Given the description of an element on the screen output the (x, y) to click on. 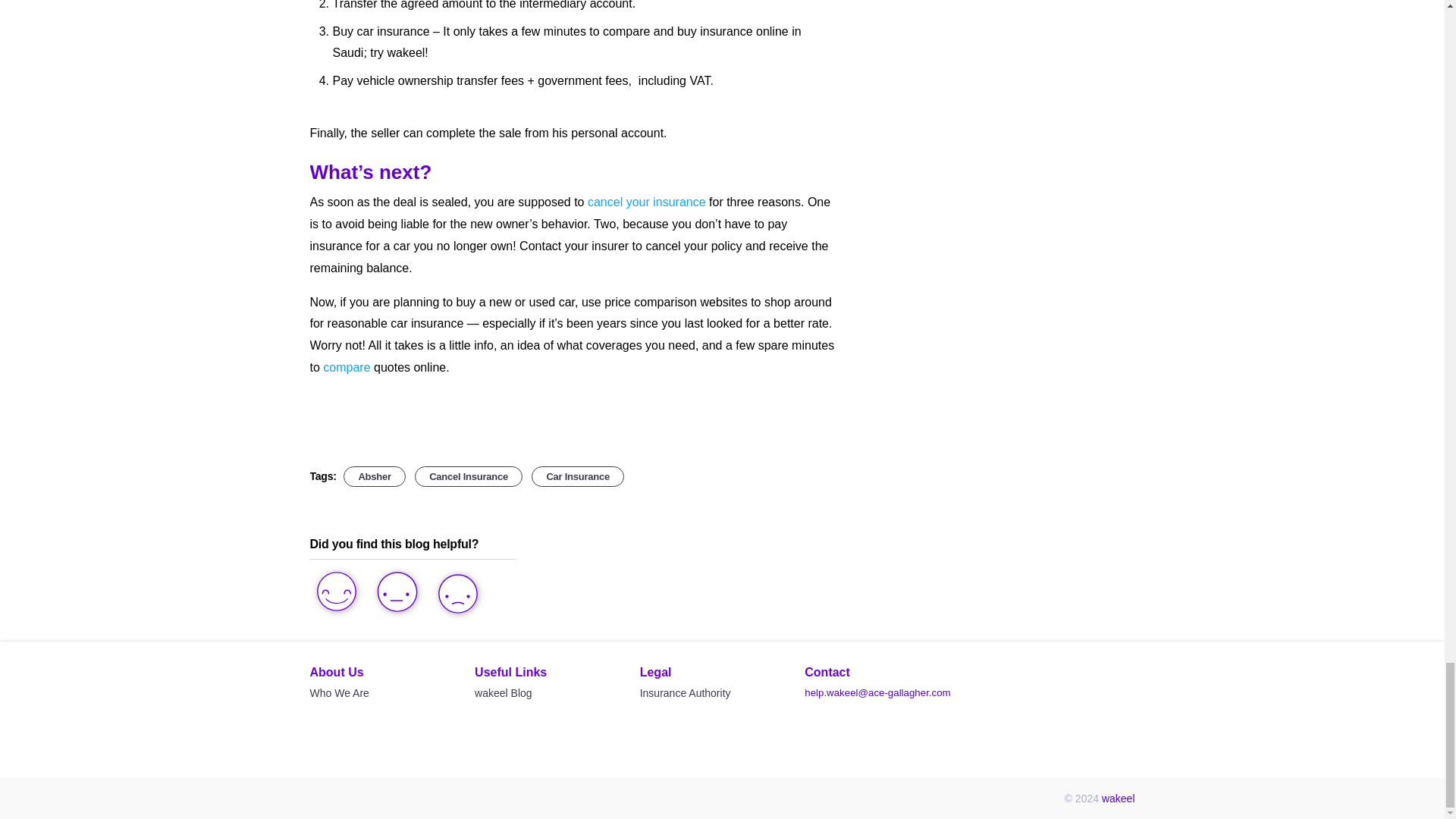
DISLIKE THIS POST (461, 594)
LOVE THIS POST (338, 593)
Car Insurance (577, 476)
compare (347, 367)
LIKE THIS POST (399, 593)
Cancel Insurance (468, 476)
Absher (374, 476)
cancel your insurance (647, 201)
